Given the description of an element on the screen output the (x, y) to click on. 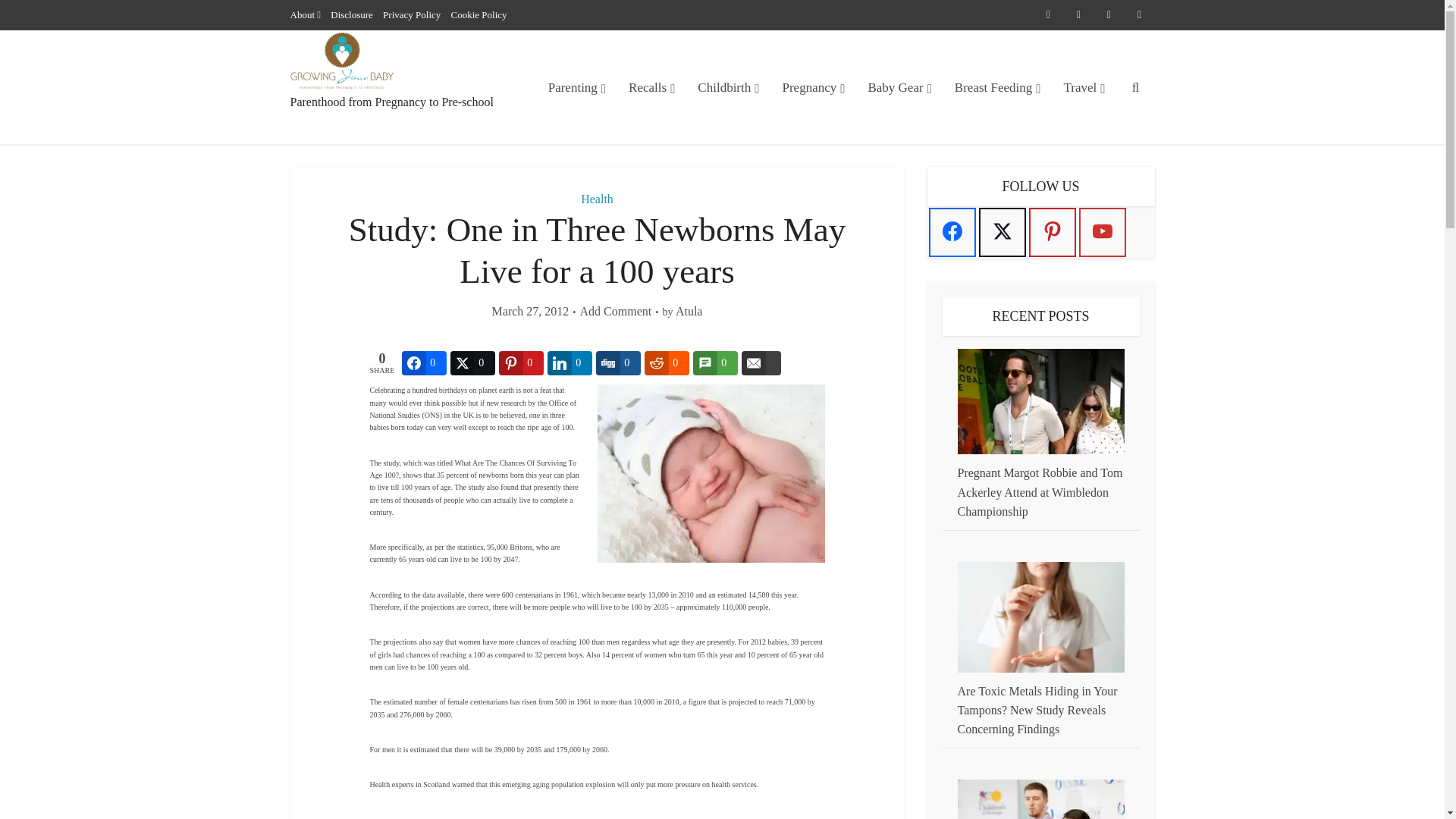
Childbirth (727, 87)
Share on Facebook (423, 363)
Cookie Policy (478, 14)
Disclosure (351, 14)
0 (423, 363)
About (301, 14)
Baby Gear (899, 87)
Pregnancy (813, 87)
Recalls (651, 87)
Share on Reddit (666, 363)
Travel (1084, 87)
0 (472, 363)
Share on Email (760, 363)
Share on Digg (617, 363)
0 (617, 363)
